Given the description of an element on the screen output the (x, y) to click on. 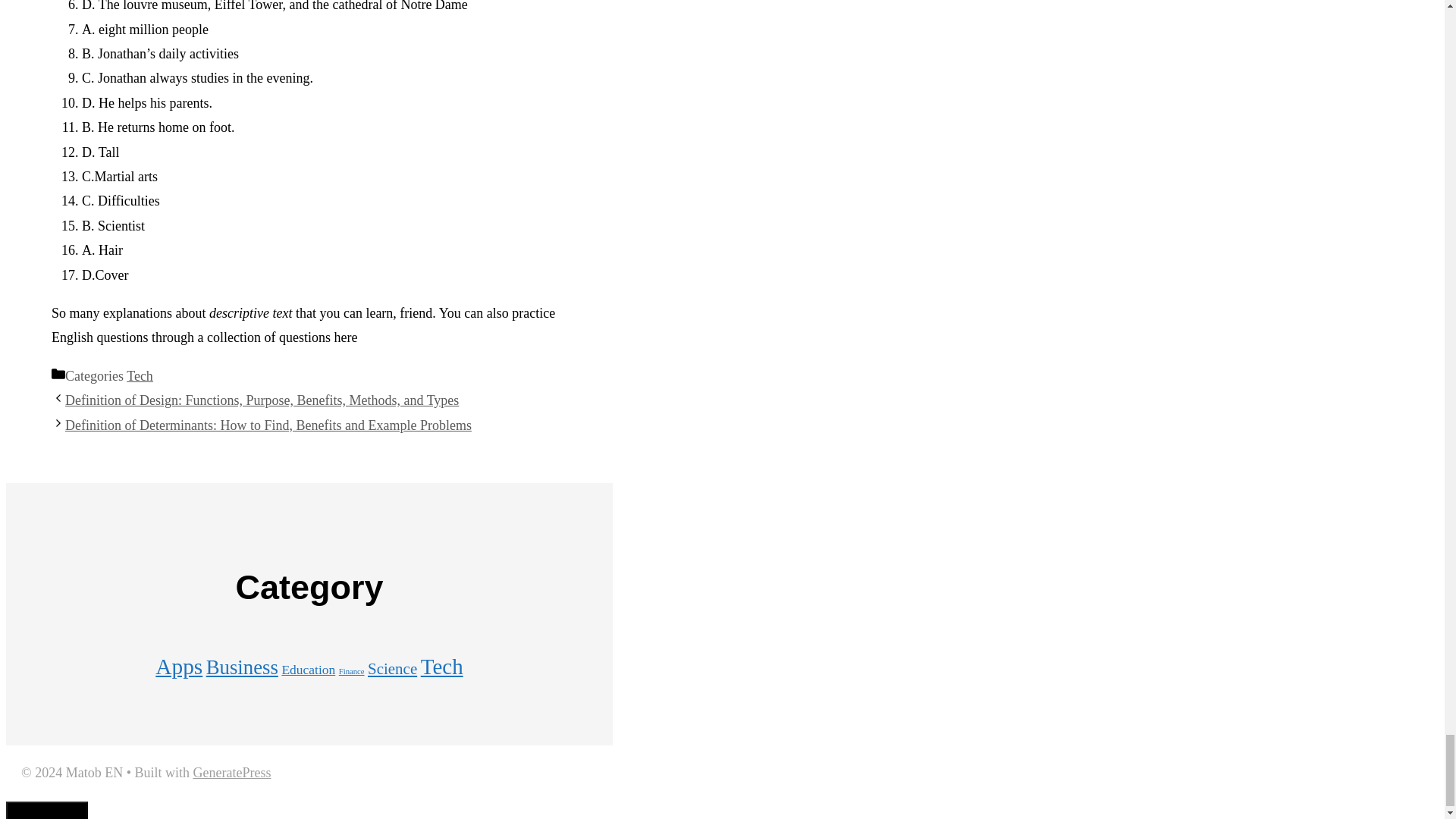
GeneratePress (231, 772)
Finance (352, 671)
Tech (139, 376)
Apps (178, 666)
Business (242, 667)
Tech (441, 666)
Science (392, 669)
Education (307, 669)
